Given the description of an element on the screen output the (x, y) to click on. 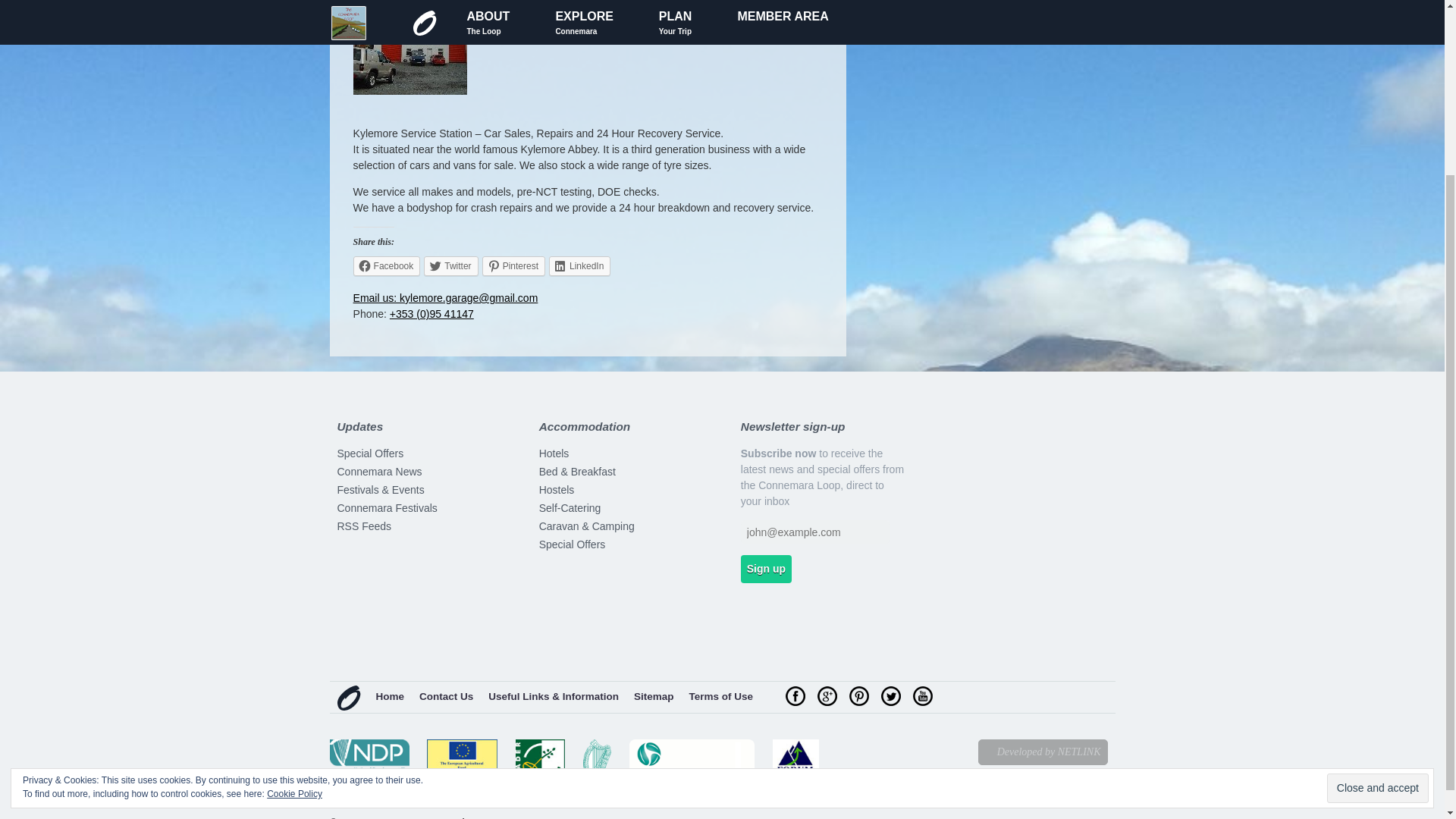
Sign up (766, 569)
Click to share on Twitter (450, 266)
Click to share on LinkedIn (579, 266)
Close and accept (1377, 568)
Pinterest (512, 266)
Facebook (386, 266)
Twitter (450, 266)
LinkedIn (579, 266)
Click to share on Facebook (386, 266)
Semantic Web Development (1043, 751)
